Given the description of an element on the screen output the (x, y) to click on. 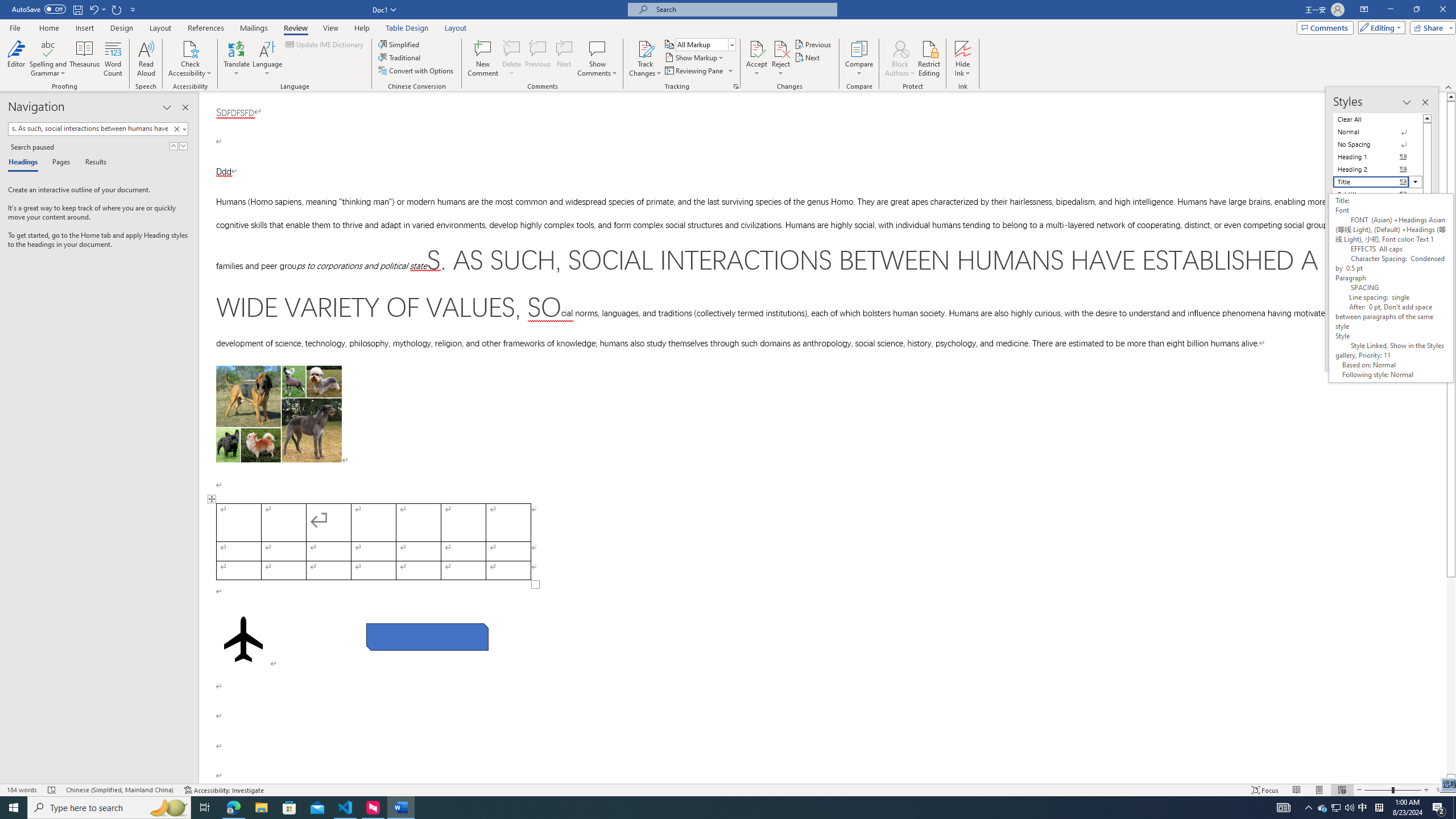
Check Accessibility (189, 48)
Check Accessibility (189, 58)
Reject (780, 58)
Track Changes (644, 58)
